Given the description of an element on the screen output the (x, y) to click on. 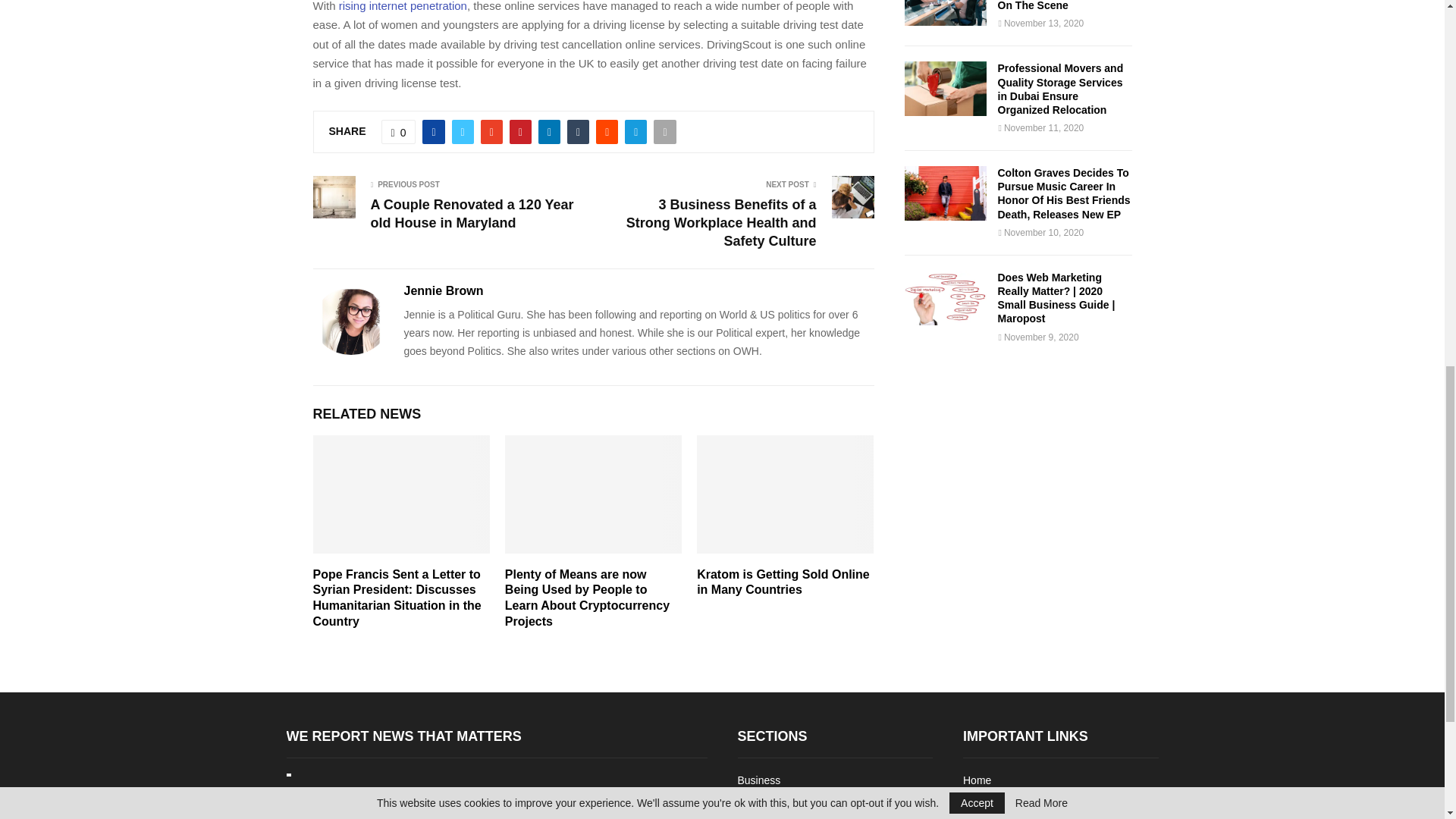
Like (398, 131)
Posts by Jennie Brown (443, 291)
rising internet penetration (403, 6)
0 (398, 131)
